Given the description of an element on the screen output the (x, y) to click on. 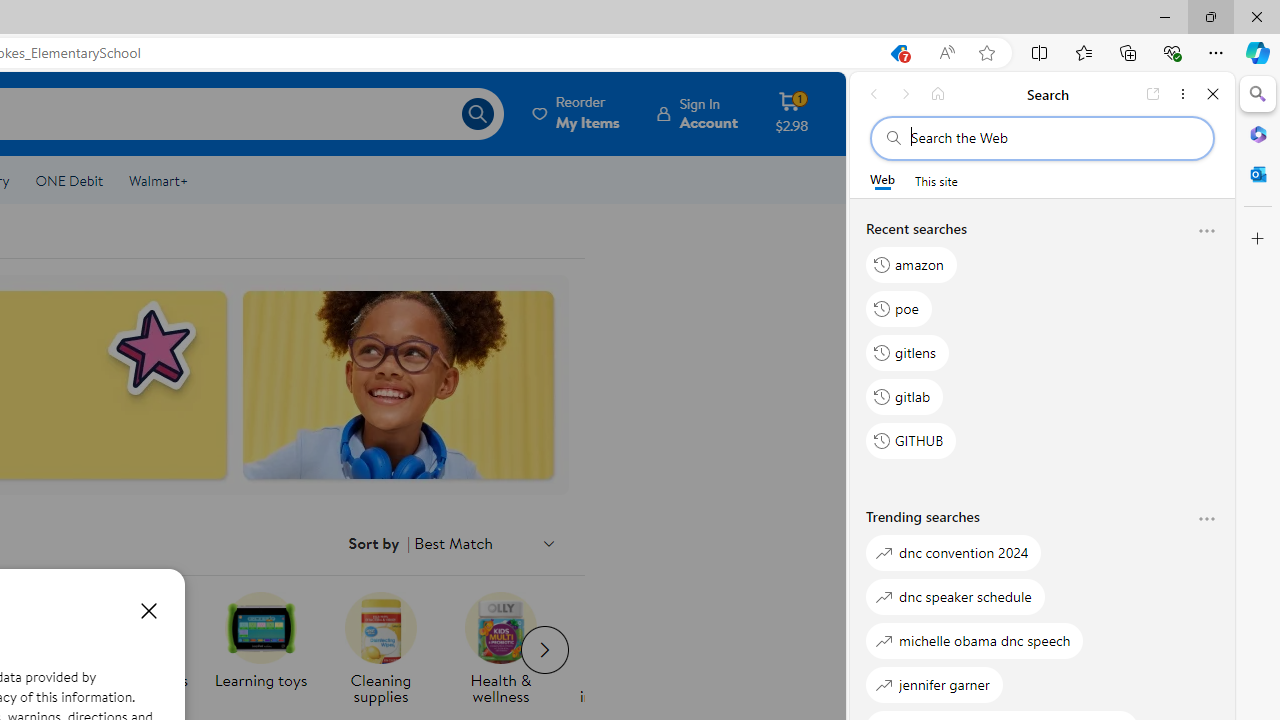
poe (898, 308)
Close dialog (148, 610)
jennifer garner (934, 684)
GITHUB (911, 441)
